Given the description of an element on the screen output the (x, y) to click on. 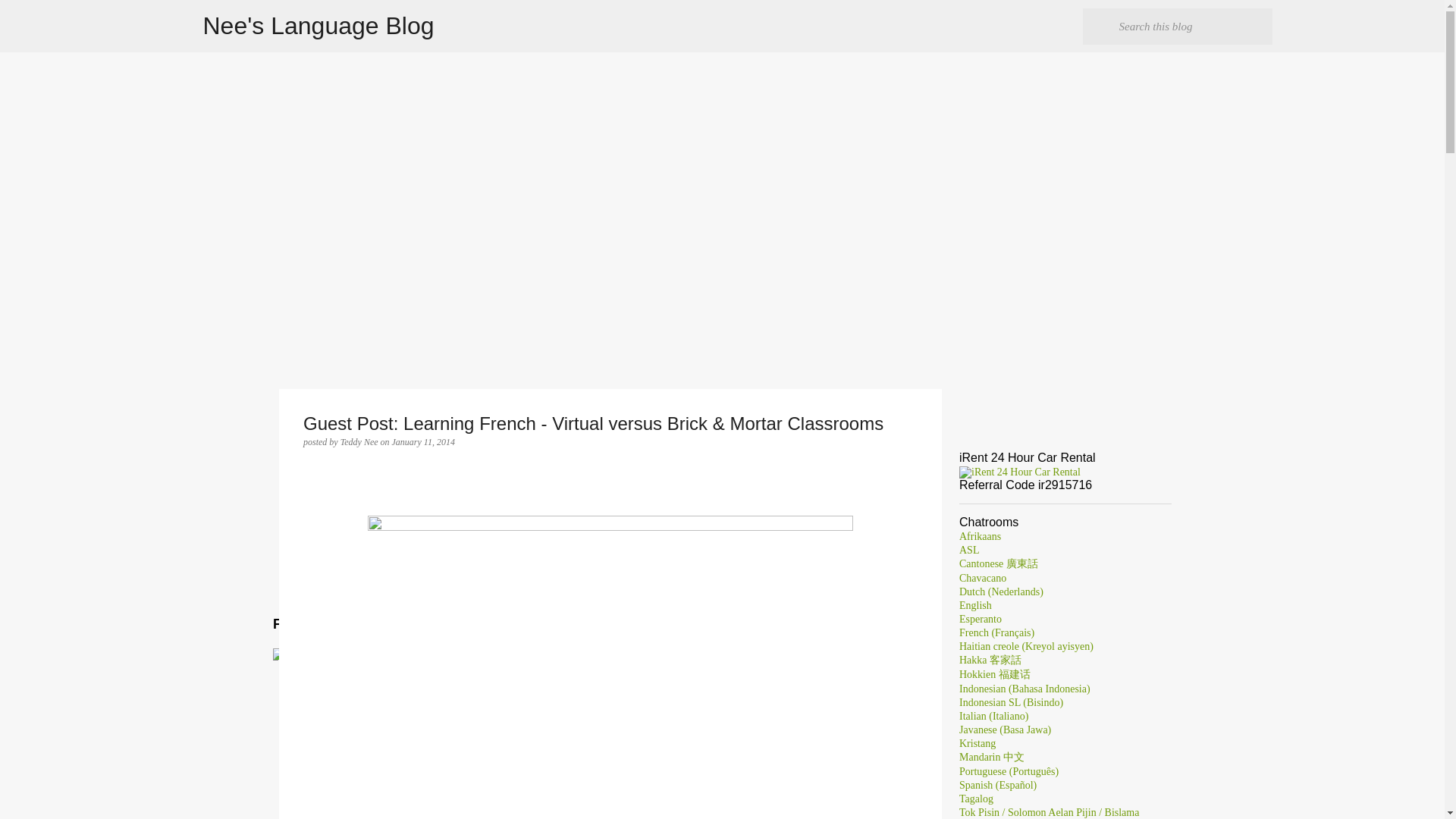
January 11, 2014 (422, 441)
Teddy Nee (360, 441)
ASL (968, 550)
Advertisement (610, 501)
Nee's Language Blog (318, 25)
author profile (360, 441)
Chavacano (982, 577)
Afrikaans (980, 536)
permanent link (422, 441)
